Given the description of an element on the screen output the (x, y) to click on. 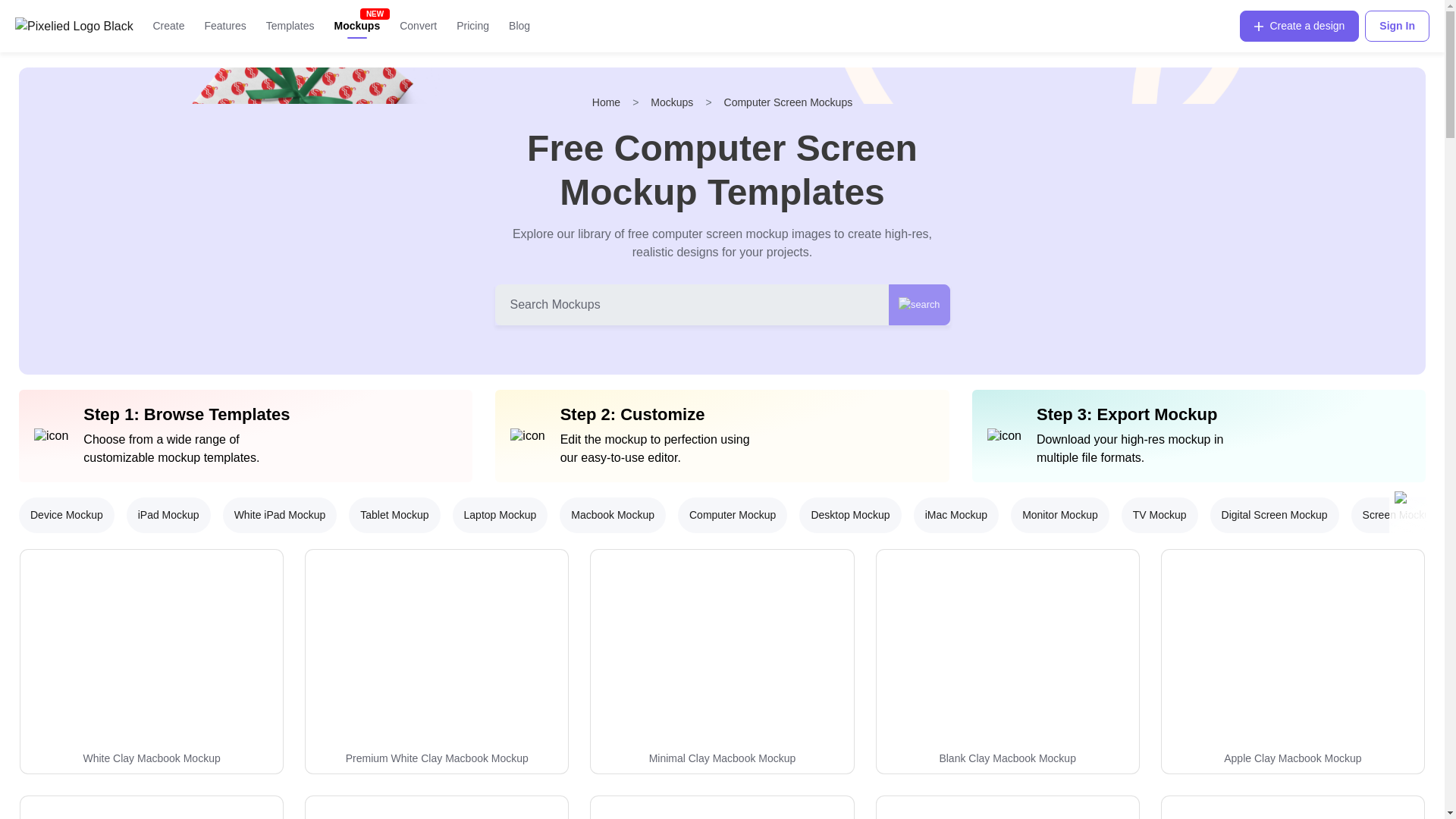
Apple Clay Macbook Mockup (1292, 660)
iMac Mockup (956, 515)
Features (224, 26)
Minimal Clay Macbook Mockup (721, 758)
Premium White Clay Macbook Mockup (436, 758)
Laptop Mockup (500, 515)
Blank Clay Macbook Mockup (1007, 758)
White Clay Macbook Mockup (151, 660)
Monitor Mockup (1059, 515)
Mockups (357, 26)
